Given the description of an element on the screen output the (x, y) to click on. 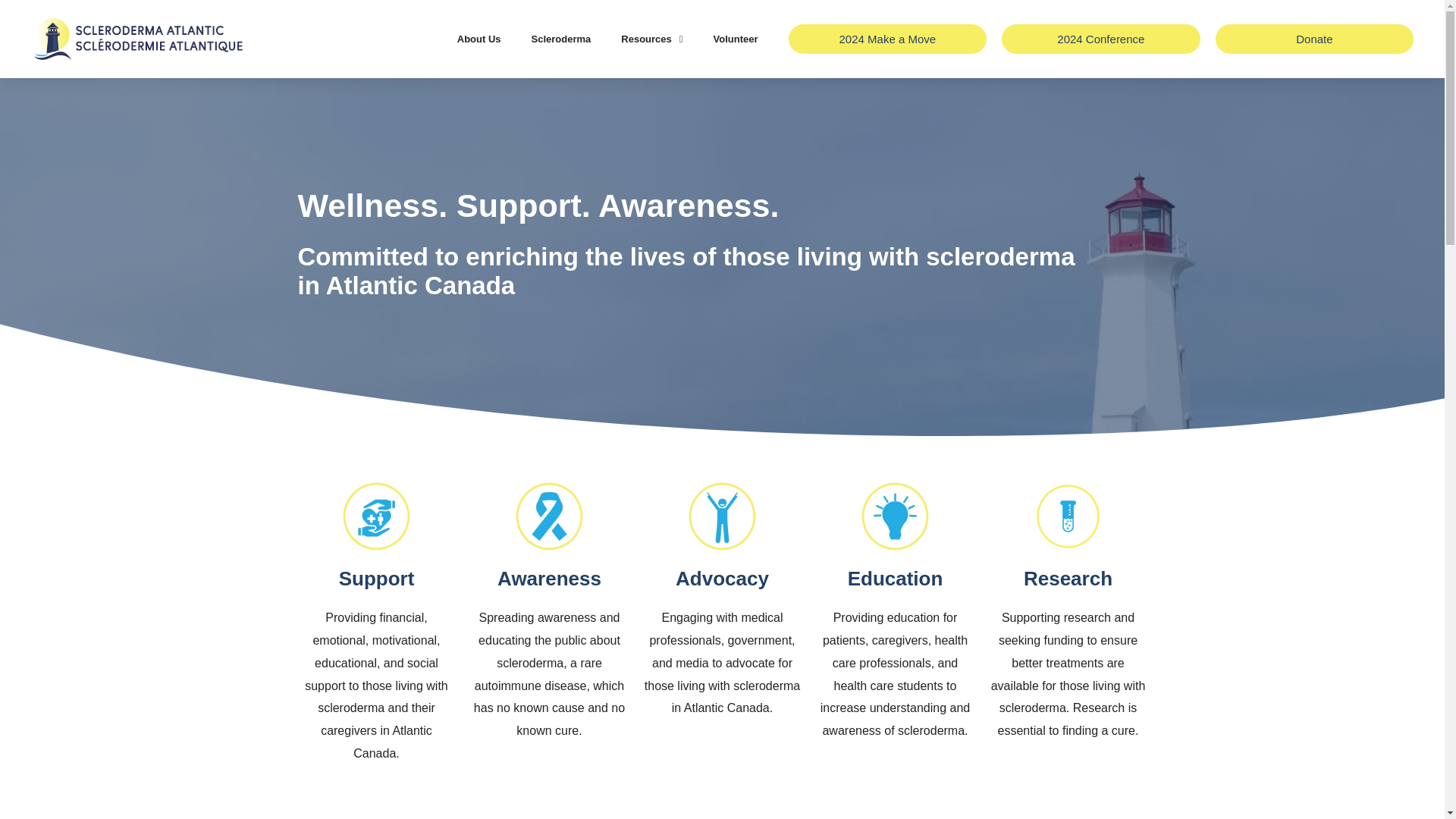
Scleroderma (561, 39)
2024 Conference (1100, 39)
Volunteer (735, 39)
Donate (1314, 39)
2024 Make a Move (888, 39)
Resources (651, 39)
About Us (479, 39)
